Given the description of an element on the screen output the (x, y) to click on. 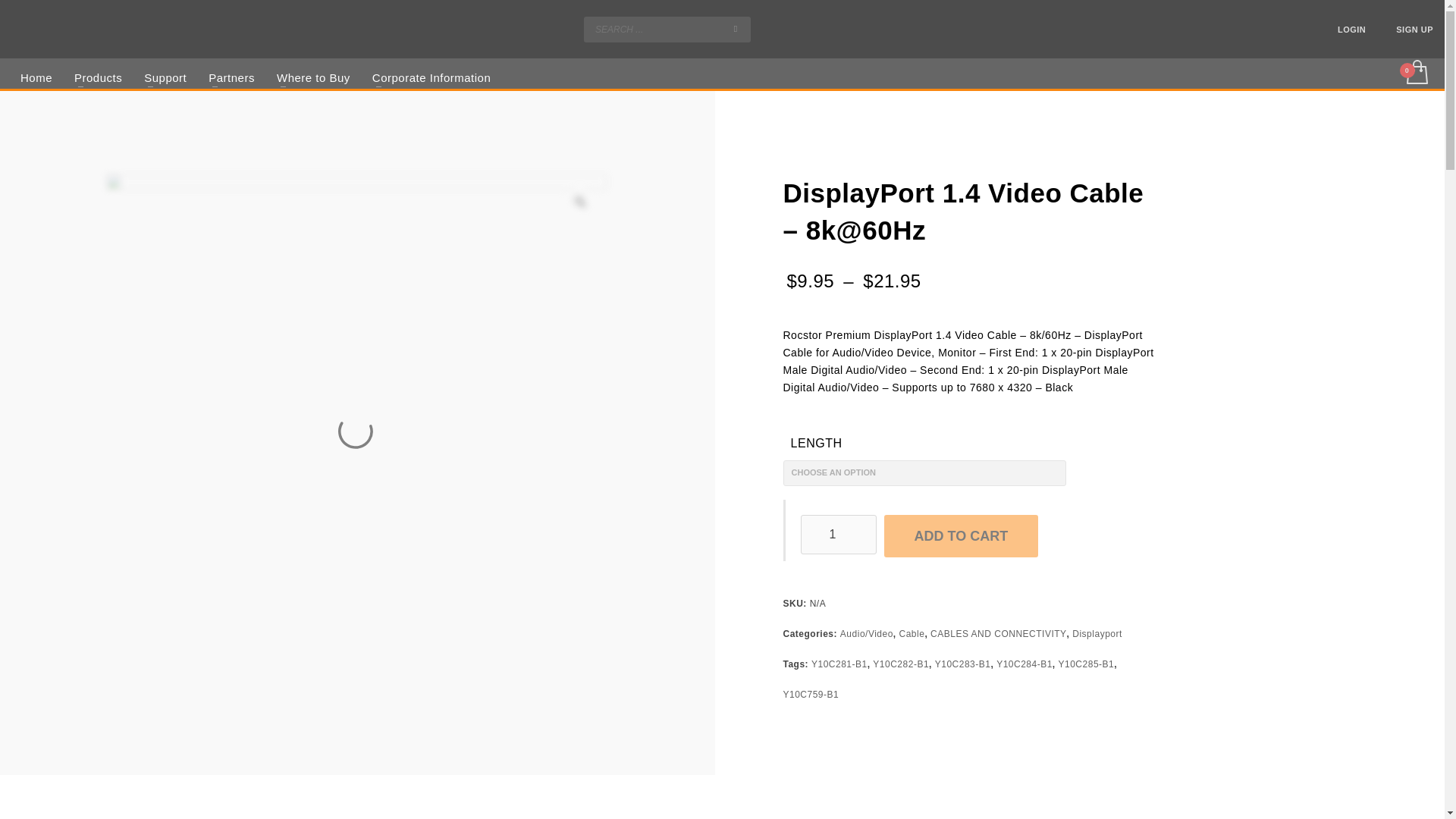
1 (838, 534)
View your shopping cart (1415, 76)
SIGN UP (1414, 28)
go (735, 27)
Home (36, 77)
LOGIN (1351, 28)
Products (98, 77)
